Given the description of an element on the screen output the (x, y) to click on. 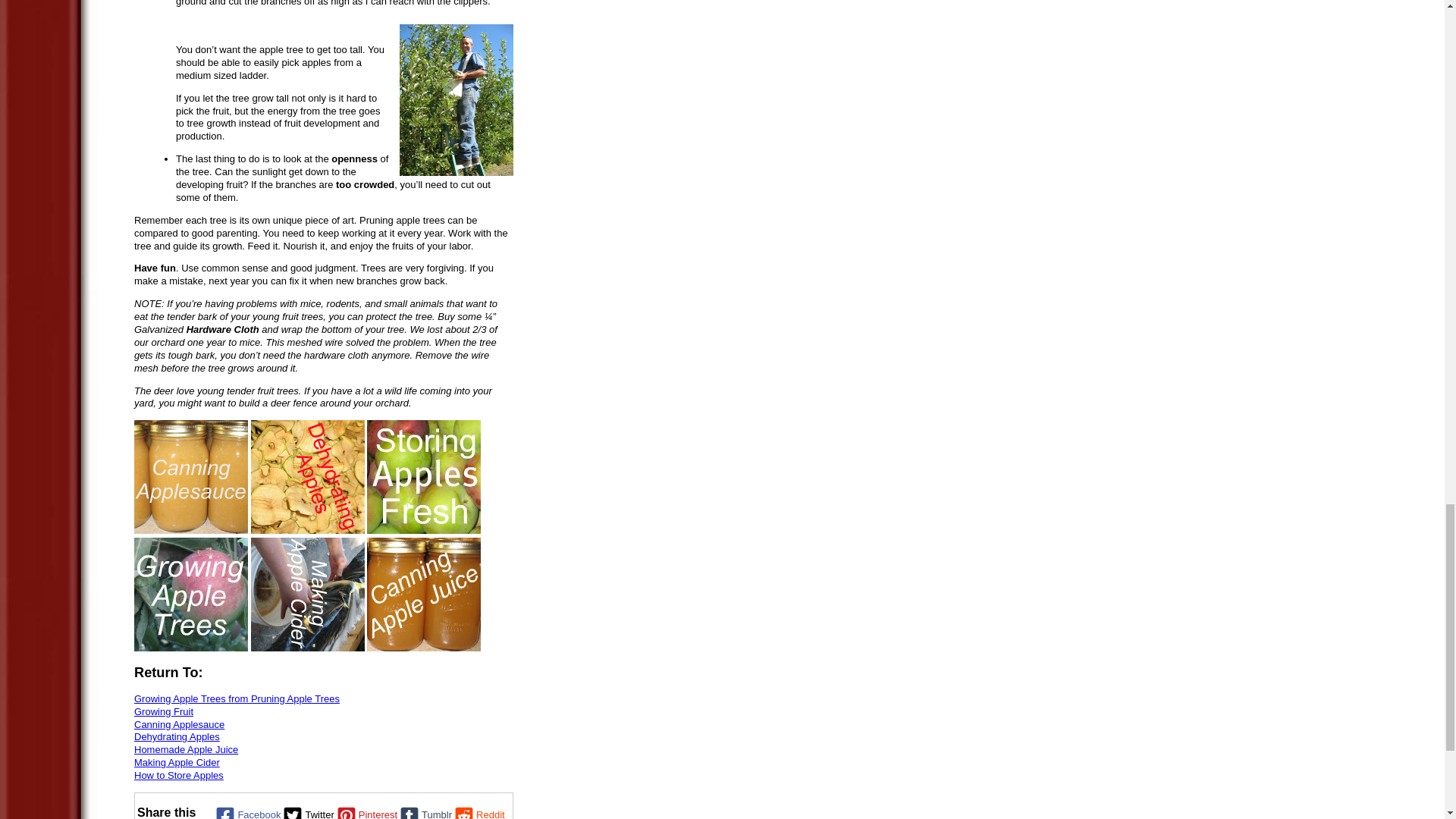
Canning Applesauce (190, 476)
Homemade Apple Juice (423, 594)
Dehydrating Apples (307, 476)
Homemade Apple Cider (307, 594)
Storing Fresh Apples (423, 476)
Growing Apple Trees (190, 594)
